Given the description of an element on the screen output the (x, y) to click on. 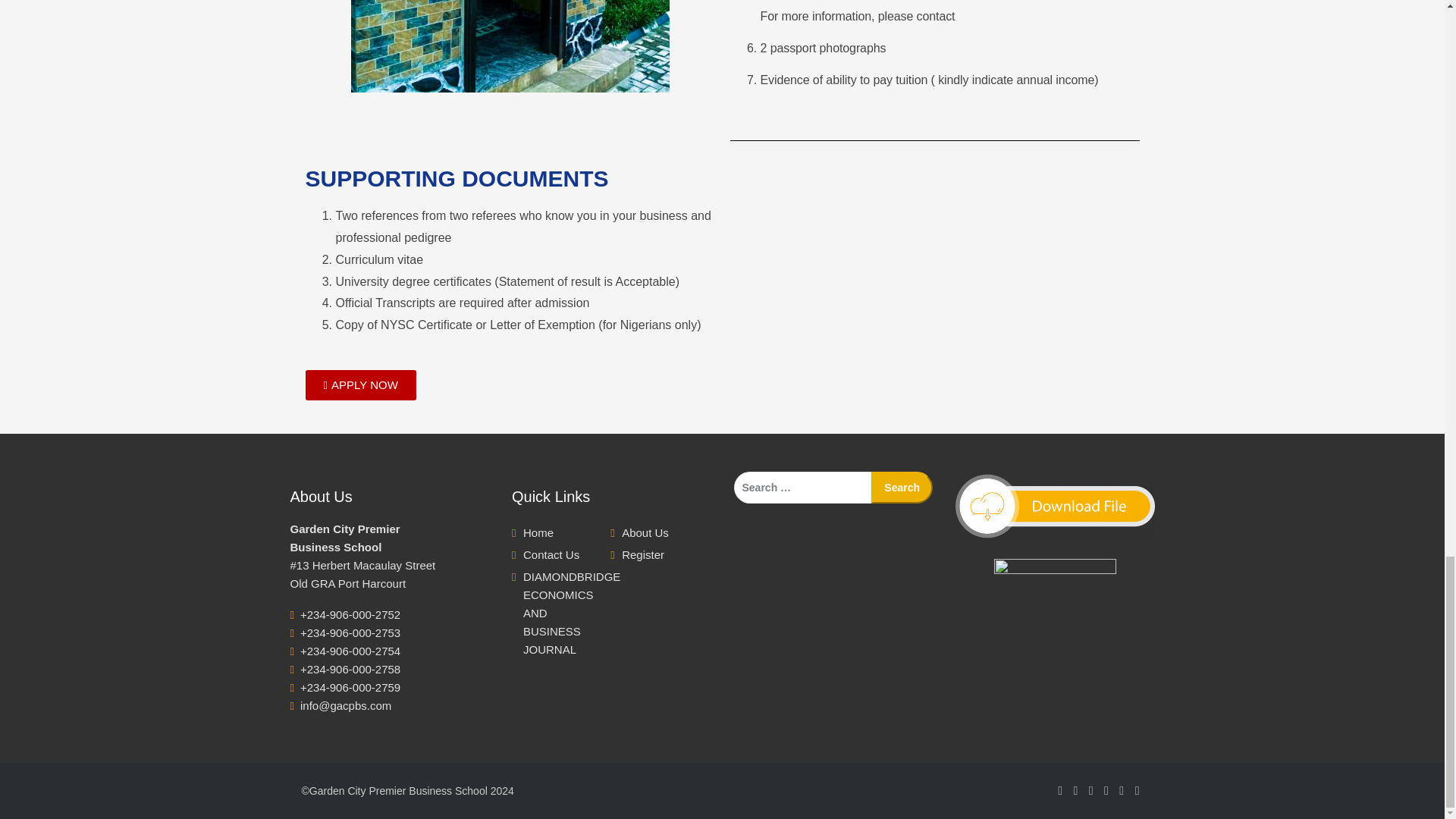
Search (901, 487)
Search (901, 487)
APPLY NOW (359, 385)
Home (537, 532)
